Given the description of an element on the screen output the (x, y) to click on. 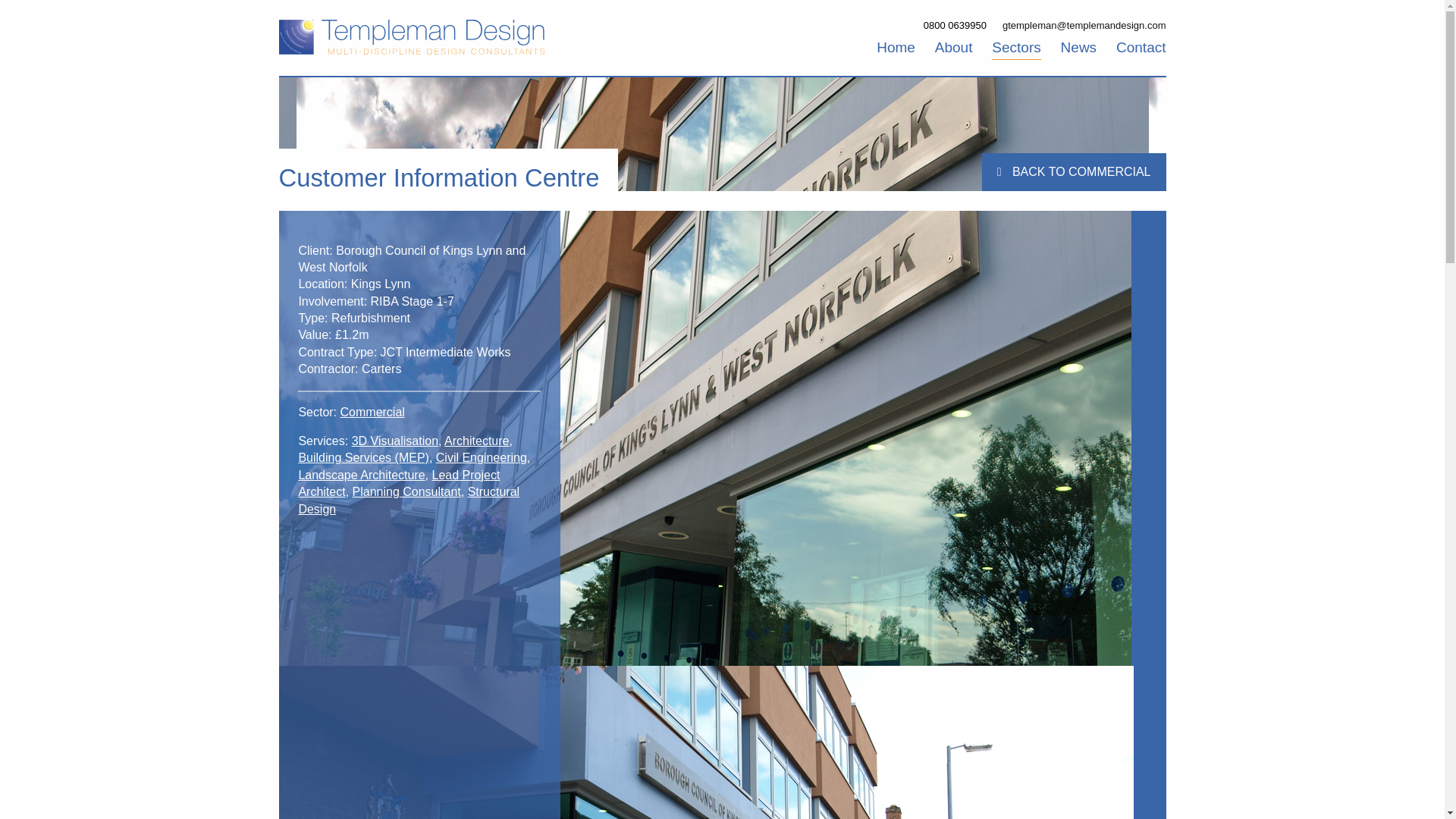
Contact (1141, 47)
Planning Consultant (406, 491)
BACK TO COMMERCIAL (1073, 171)
Sectors (1016, 49)
Architecture (476, 440)
Commercial (372, 411)
News (1079, 47)
Lead Project Architect (398, 482)
3D Visualisation (395, 440)
Landscape Architecture (361, 474)
